Given the description of an element on the screen output the (x, y) to click on. 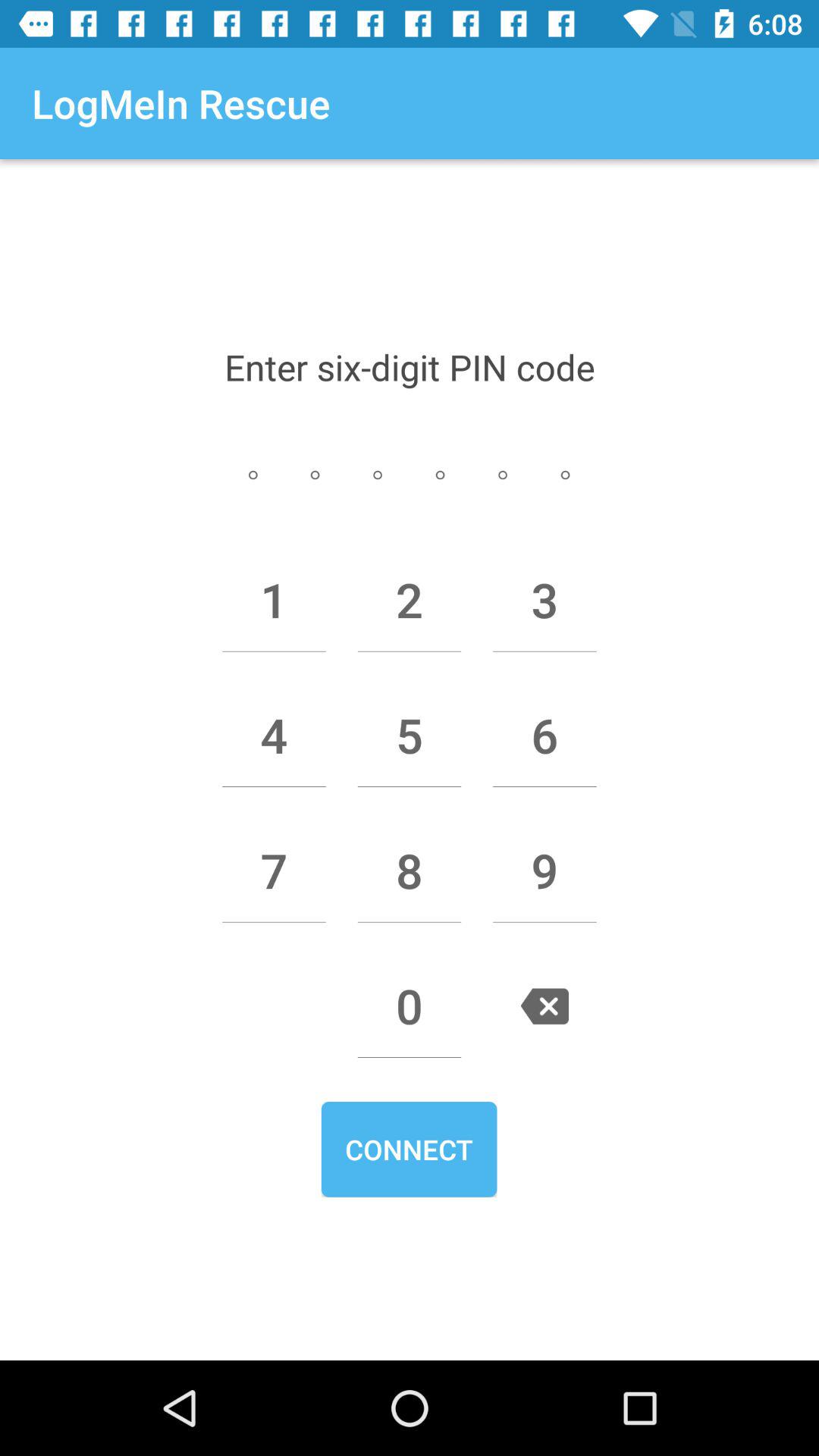
launch icon next to the 8 (544, 870)
